Given the description of an element on the screen output the (x, y) to click on. 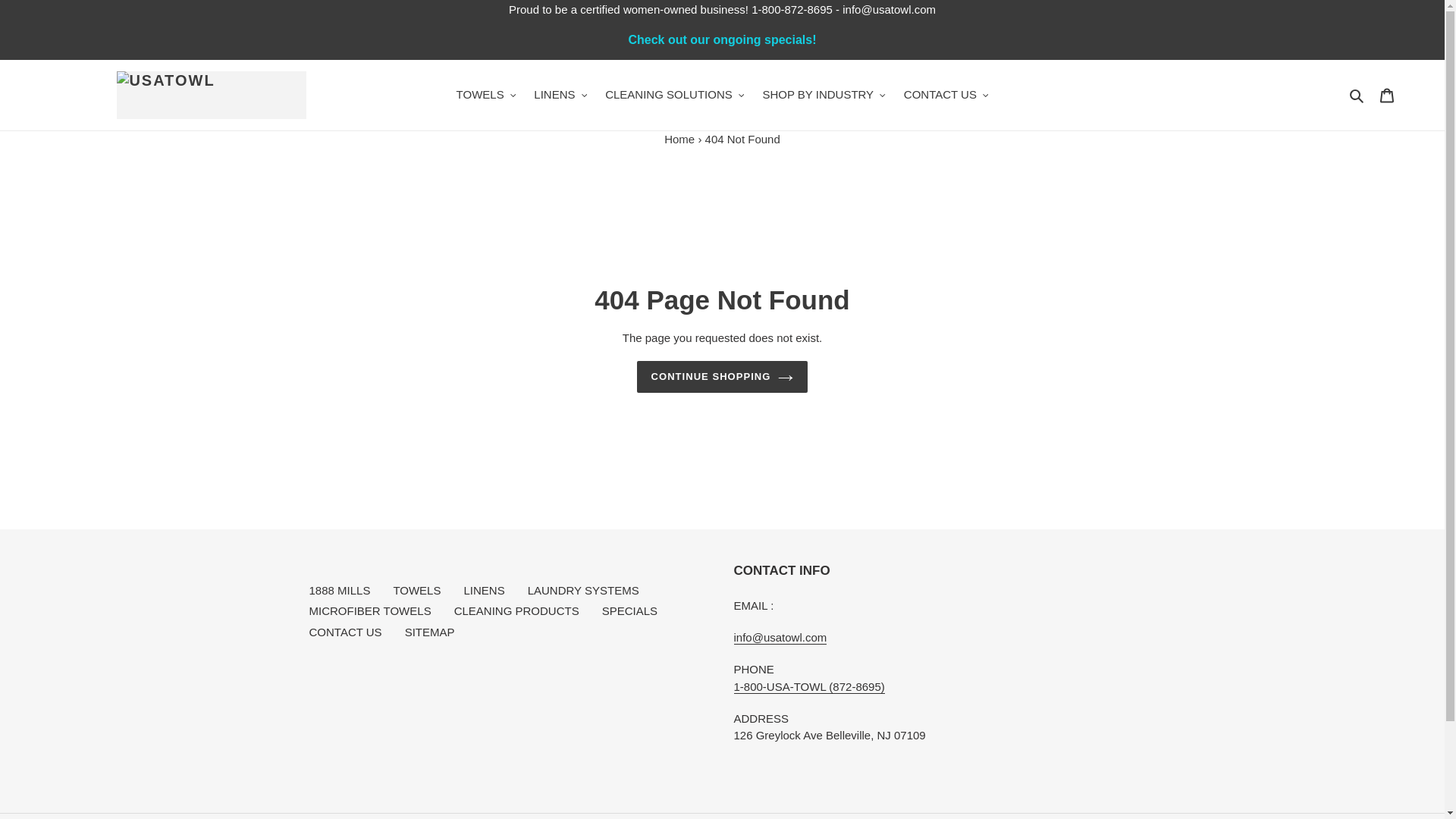
LINENS (559, 95)
1-800-872-8695 (791, 9)
SHOP BY INDUSTRY (823, 95)
CLEANING SOLUTIONS (673, 95)
Check out our ongoing specials! (721, 39)
TOWELS (486, 95)
Home (678, 137)
